Given the description of an element on the screen output the (x, y) to click on. 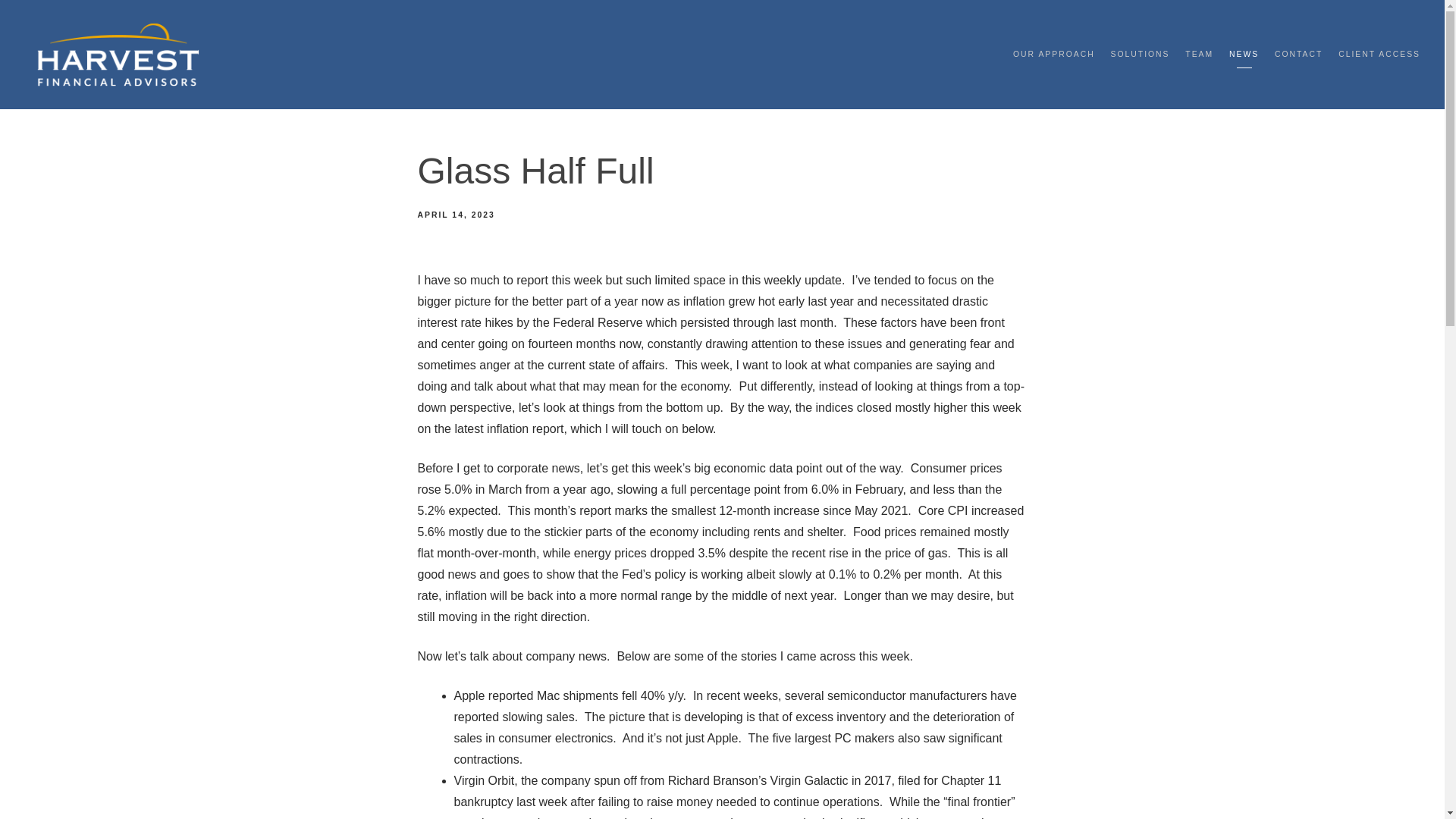
OUR APPROACH (1053, 55)
TEAM (1198, 55)
SOLUTIONS (1139, 55)
CONTACT (1298, 55)
NEWS (1243, 55)
CLIENT ACCESS (1379, 55)
